Given the description of an element on the screen output the (x, y) to click on. 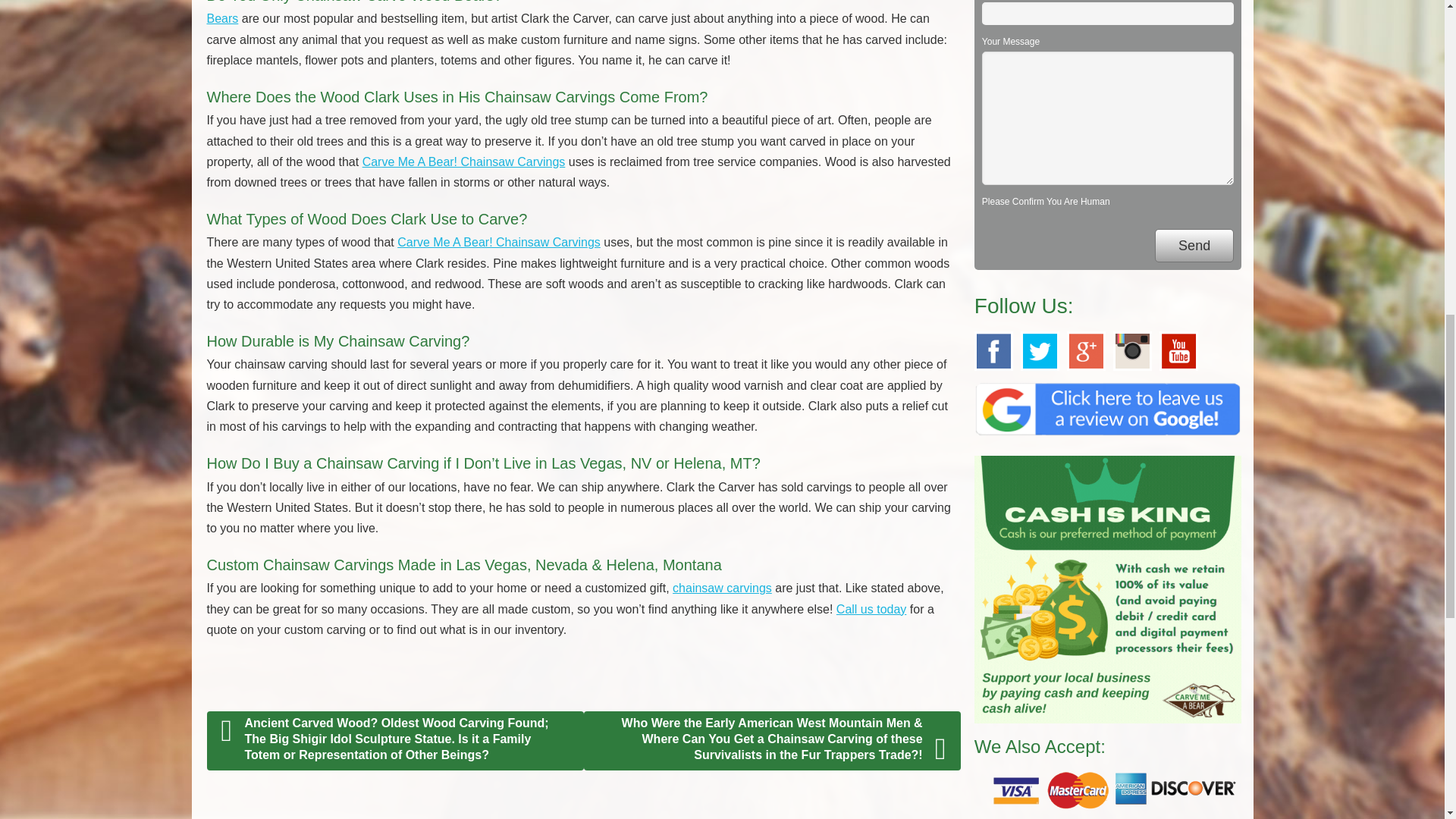
Send (1193, 245)
